Given the description of an element on the screen output the (x, y) to click on. 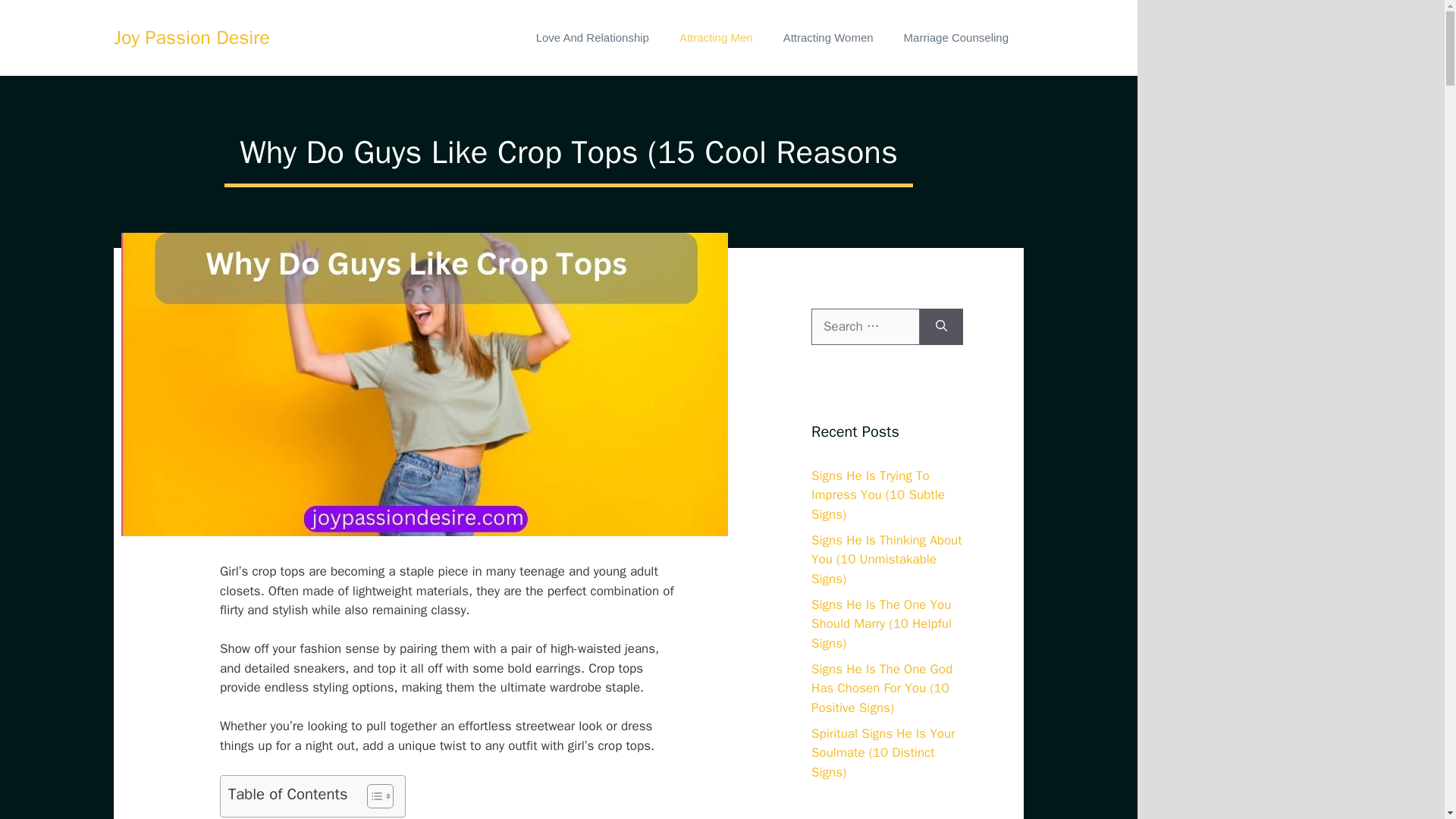
Search for: (865, 326)
Love And Relationship (592, 37)
Joy Passion Desire (191, 38)
Attracting Men (715, 37)
Attracting Women (828, 37)
Marriage Counseling (955, 37)
